Given the description of an element on the screen output the (x, y) to click on. 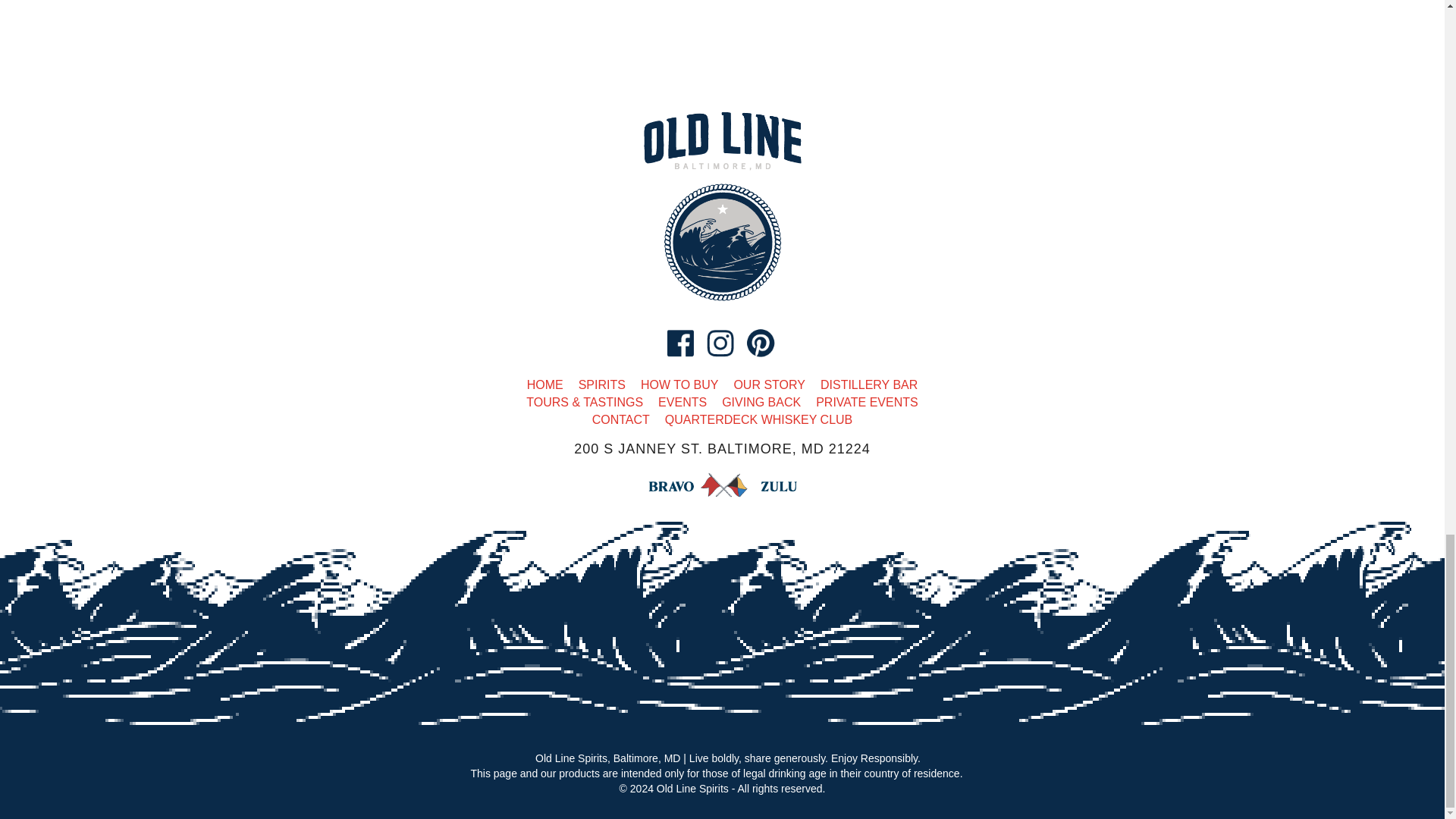
GIVING BACK (761, 401)
PRIVATE EVENTS (866, 401)
CONTACT (620, 419)
HOME (545, 384)
EVENTS (682, 401)
HOW TO BUY (679, 384)
QUARTERDECK WHISKEY CLUB (758, 419)
SPIRITS (602, 384)
OUR STORY (769, 384)
DISTILLERY BAR (869, 384)
